Given the description of an element on the screen output the (x, y) to click on. 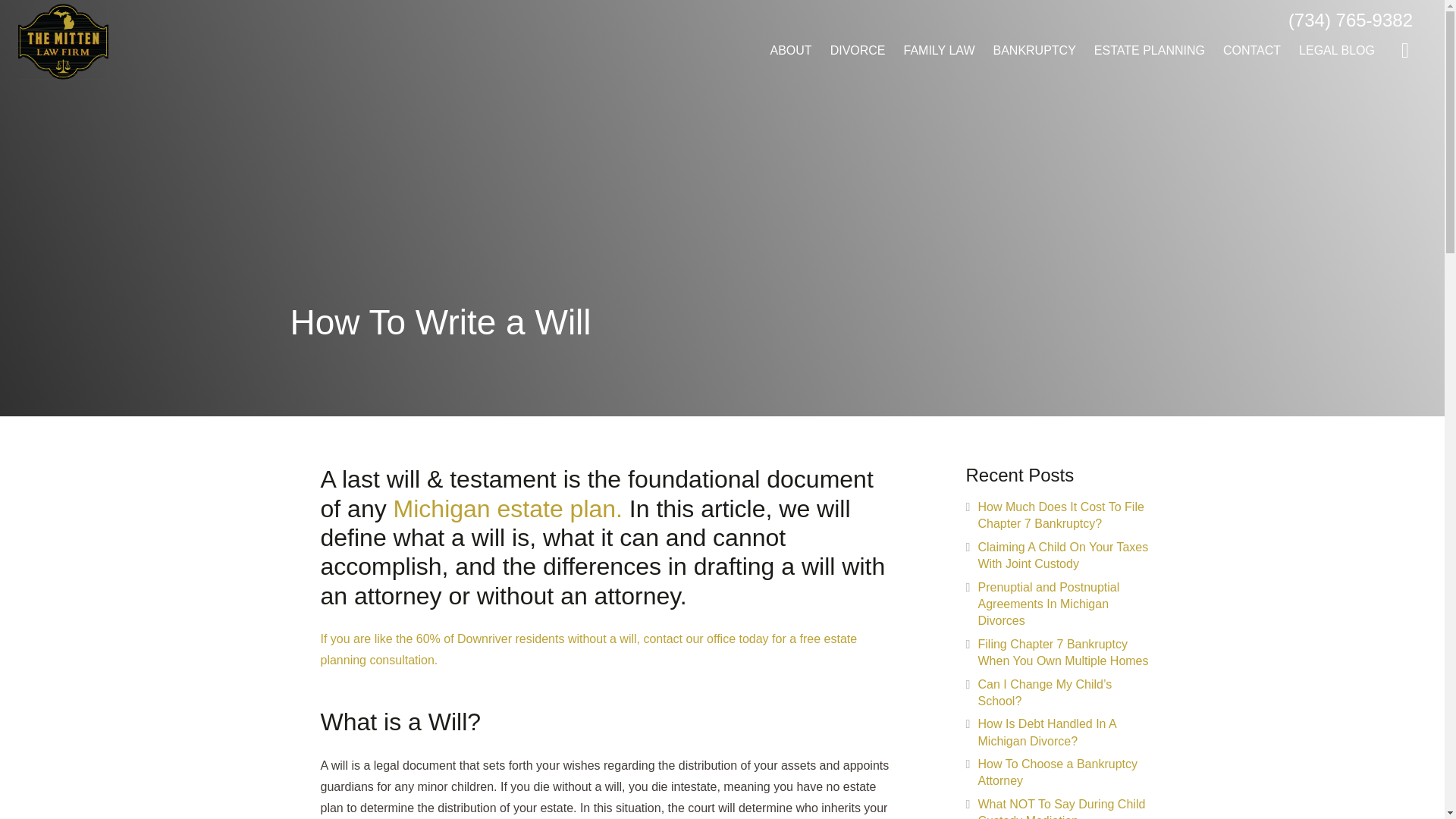
DIVORCE (858, 51)
LEGAL BLOG (1337, 51)
CONTACT (1252, 51)
Michigan estate plan. (508, 508)
ABOUT (791, 51)
Filing Chapter 7 Bankruptcy When You Own Multiple Homes (1063, 652)
Prenuptial and Postnuptial Agreements In Michigan Divorces (1048, 604)
What NOT To Say During Child Custody Mediation (1061, 808)
How To Choose a Bankruptcy Attorney (1057, 772)
Claiming A Child On Your Taxes With Joint Custody (1063, 555)
ESTATE PLANNING (1149, 51)
FAMILY LAW (939, 51)
How Is Debt Handled In A Michigan Divorce? (1047, 731)
Facebook (1405, 50)
How Much Does It Cost To File Chapter 7 Bankruptcy? (1061, 514)
